Given the description of an element on the screen output the (x, y) to click on. 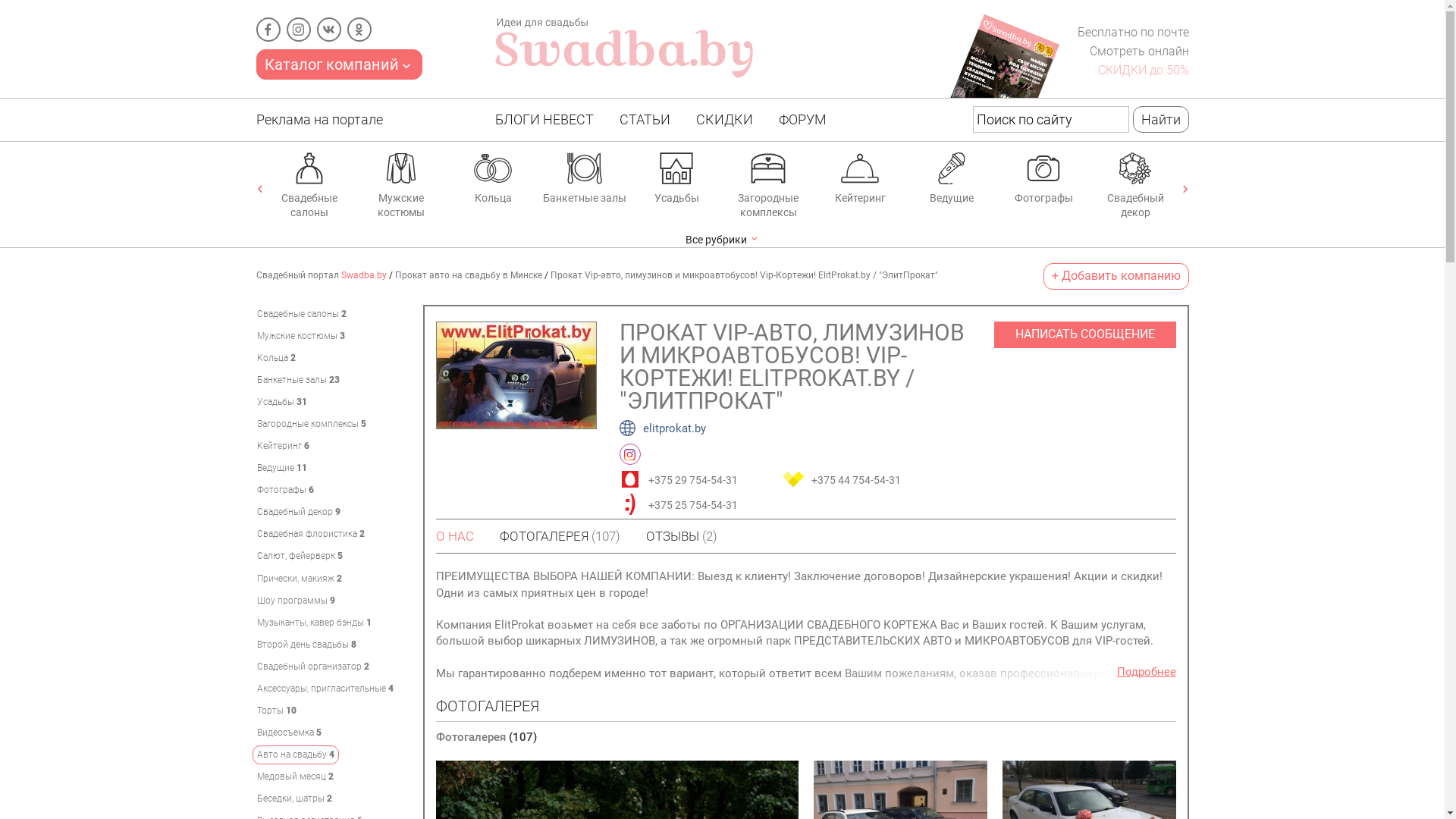
+375 25 754-54-31 Element type: text (694, 503)
+375 44 754-54-31 Element type: text (858, 478)
elitprokat.by Element type: text (661, 428)
+375 29 754-54-31 Element type: text (694, 478)
